Given the description of an element on the screen output the (x, y) to click on. 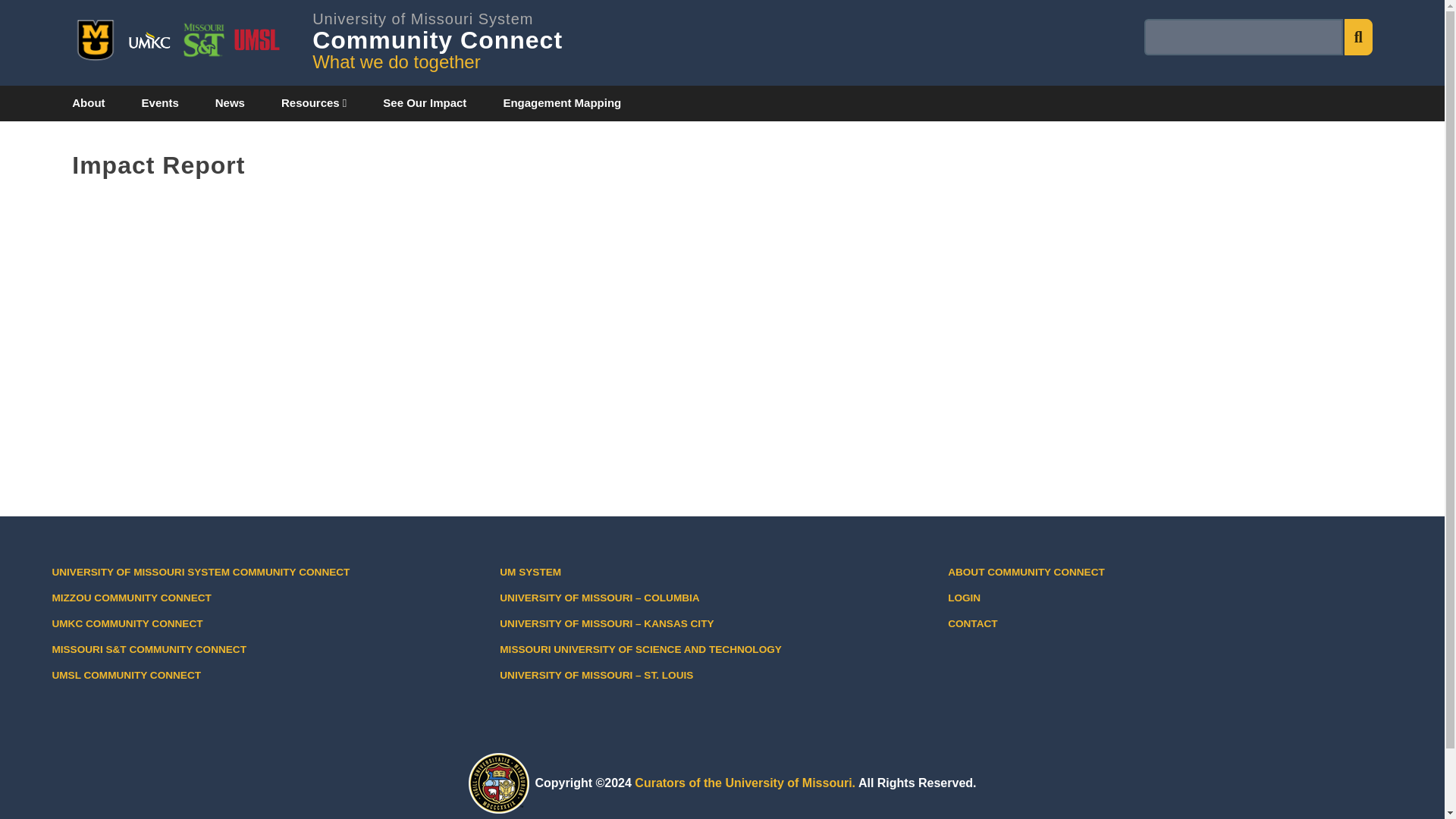
Engagement Mapping (561, 103)
See Our Impact (425, 103)
About (92, 103)
News (229, 103)
Resources  (313, 103)
Events (437, 30)
